Given the description of an element on the screen output the (x, y) to click on. 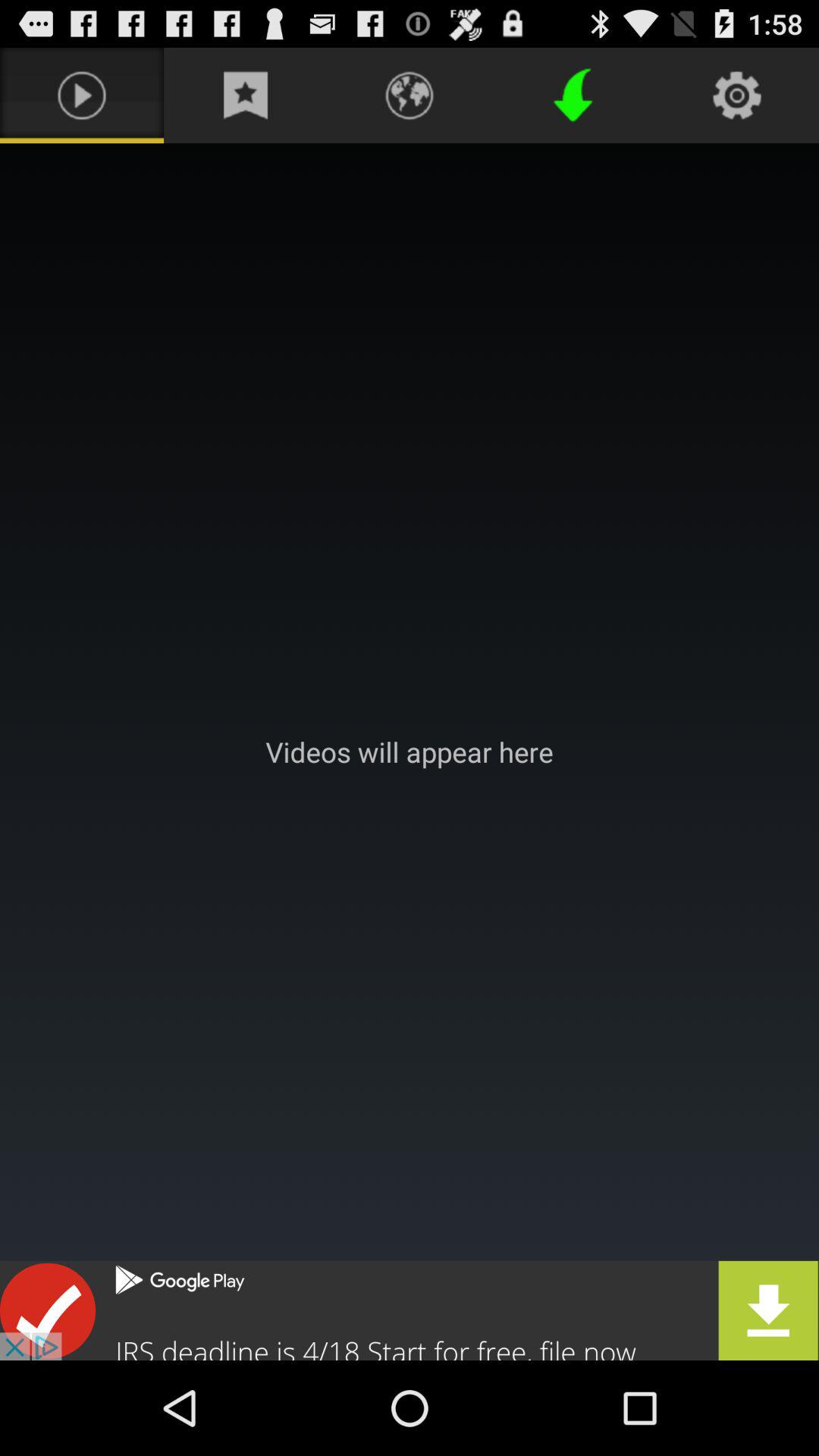
advertisement (409, 1310)
